Given the description of an element on the screen output the (x, y) to click on. 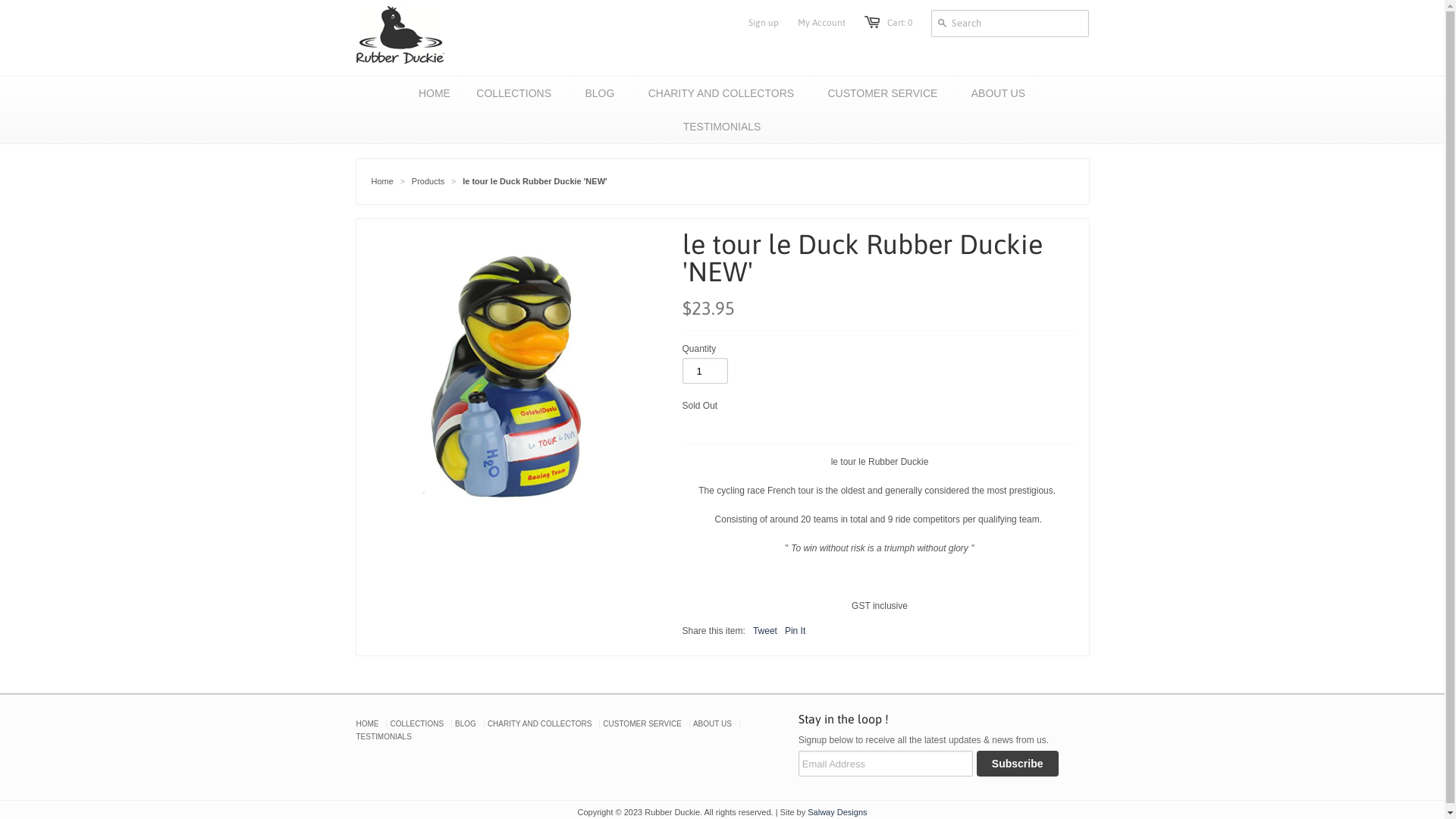
Cart: 0 Element type: text (899, 22)
BLOG Element type: text (599, 92)
Products Element type: text (427, 180)
CUSTOMER SERVICE Element type: text (641, 723)
Home Element type: text (382, 180)
TESTIMONIALS Element type: text (721, 126)
ABOUT US Element type: text (712, 723)
COLLECTIONS Element type: text (416, 723)
HOME Element type: text (367, 723)
ABOUT US Element type: text (998, 92)
Salway Designs Element type: text (836, 811)
Tweet Element type: text (765, 630)
My Account Element type: text (821, 22)
Sign up Element type: text (762, 22)
Facebook Element type: text (369, 769)
CHARITY AND COLLECTORS Element type: text (539, 723)
BLOG Element type: text (465, 723)
HOME Element type: text (434, 92)
YouTube Element type: text (435, 769)
TESTIMONIALS Element type: text (383, 736)
Pin It Element type: text (794, 630)
COLLECTIONS Element type: text (513, 92)
CHARITY AND COLLECTORS Element type: text (721, 92)
Google Plus Element type: text (402, 769)
Subscribe Element type: text (1017, 763)
CUSTOMER SERVICE Element type: text (881, 92)
